Given the description of an element on the screen output the (x, y) to click on. 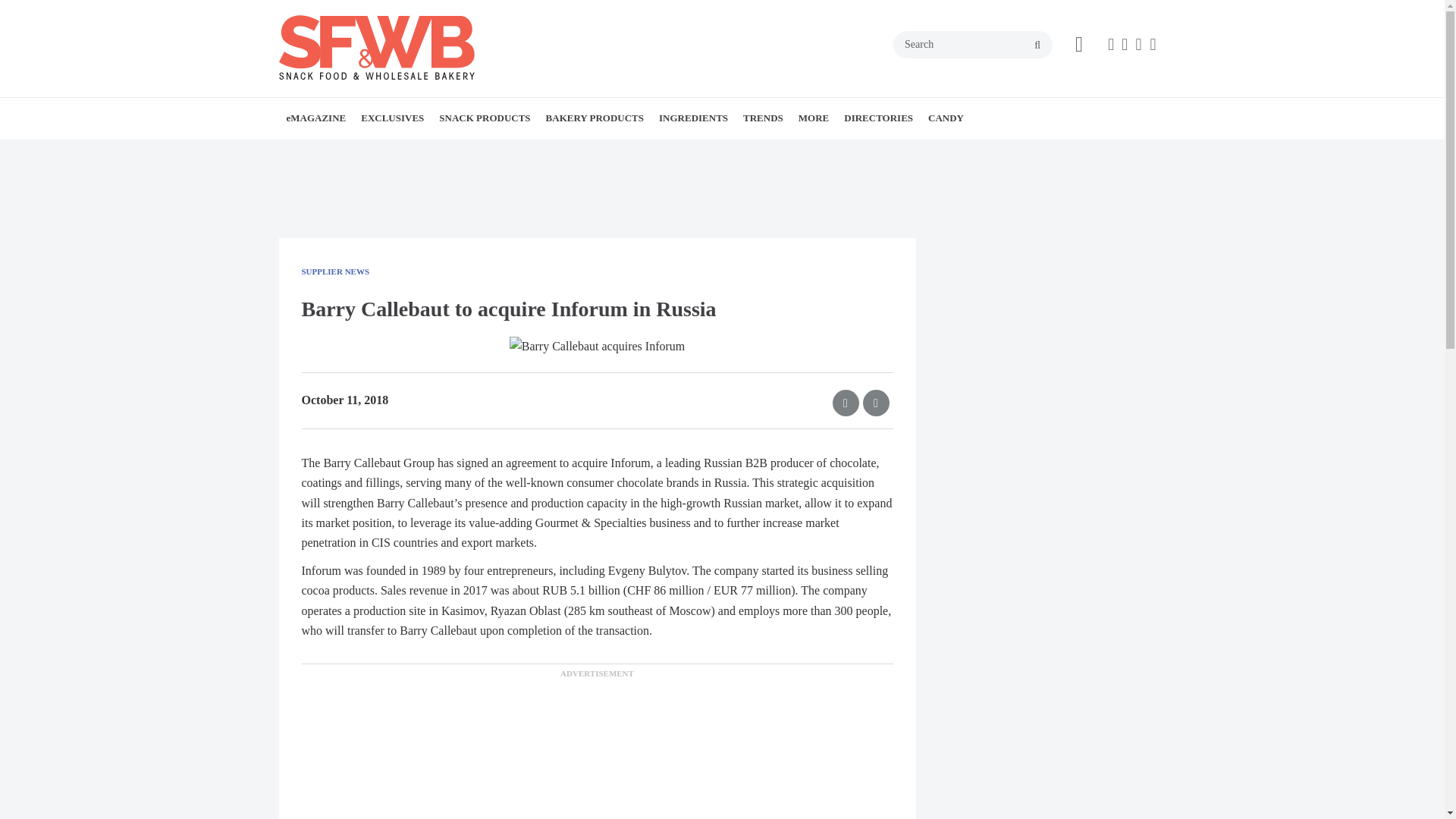
POPCORN (554, 151)
PRETZELS (557, 151)
EQUIPMENT (448, 151)
linkedin (1138, 44)
Search (972, 44)
twitter (1123, 44)
EXCLUSIVES (391, 117)
youtube (1153, 44)
STATE OF THE INDUSTRY (455, 151)
search (1037, 45)
EMAGAZINE (373, 151)
eMAGAZINE (316, 117)
CONTACT (391, 151)
SIGN UP! (397, 151)
CRACKERS (539, 151)
